Given the description of an element on the screen output the (x, y) to click on. 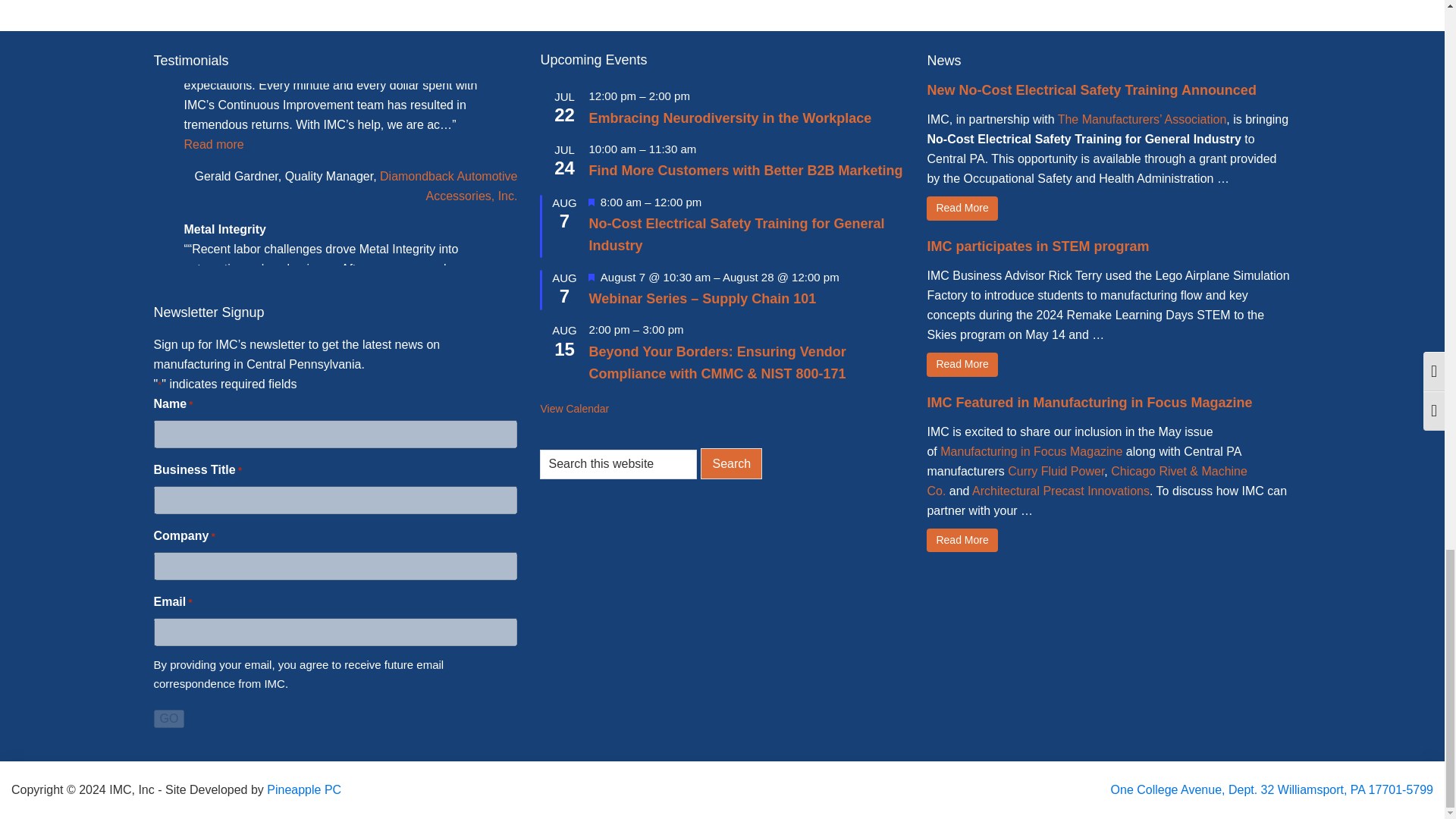
Search (730, 463)
Search (730, 463)
GO (168, 719)
